Given the description of an element on the screen output the (x, y) to click on. 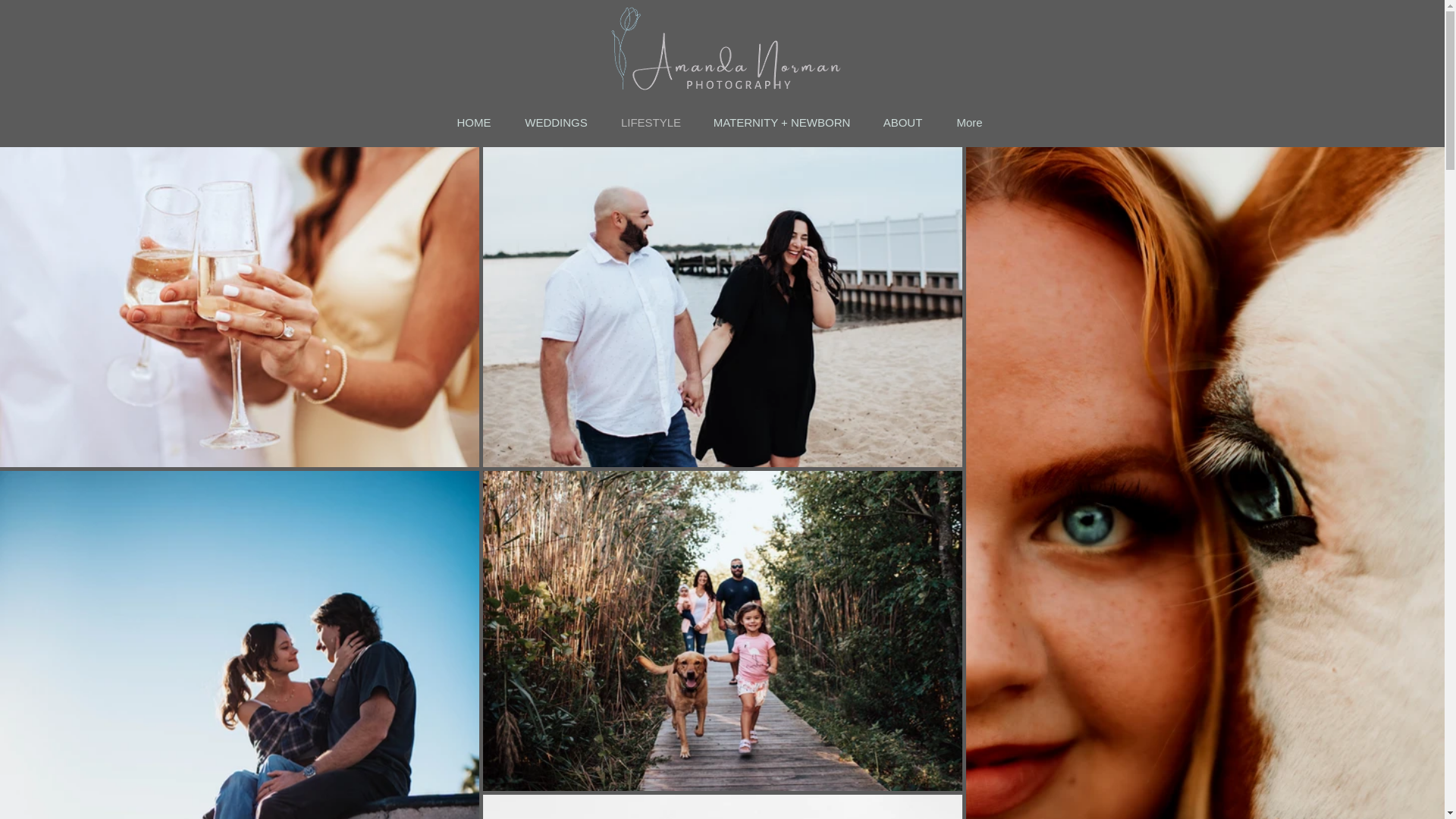
LIFESTYLE (651, 122)
ABOUT (902, 122)
WEDDINGS (556, 122)
HOME (472, 122)
